Given the description of an element on the screen output the (x, y) to click on. 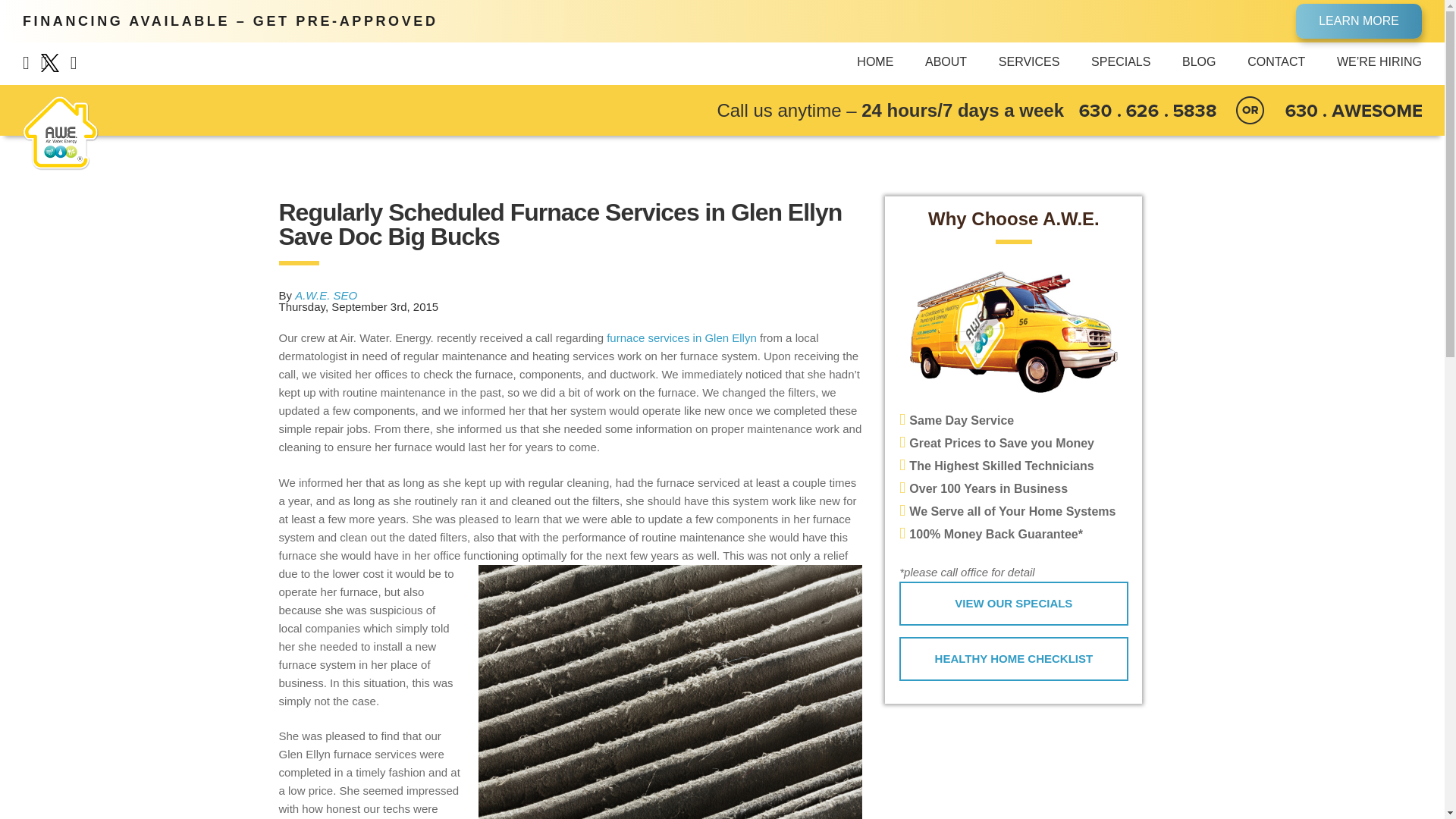
furnace services in Glen Ellyn (682, 337)
CONTACT (1275, 61)
A.W.E. SEO (325, 295)
VIEW OUR SPECIALS (1012, 603)
HEALTHY HOME CHECKLIST (1012, 658)
HOME (875, 61)
A.W.E. SEO (325, 295)
BLOG (1198, 61)
LEARN MORE (1358, 21)
SPECIALS (1120, 61)
SERVICES (1028, 61)
ABOUT (945, 61)
